Given the description of an element on the screen output the (x, y) to click on. 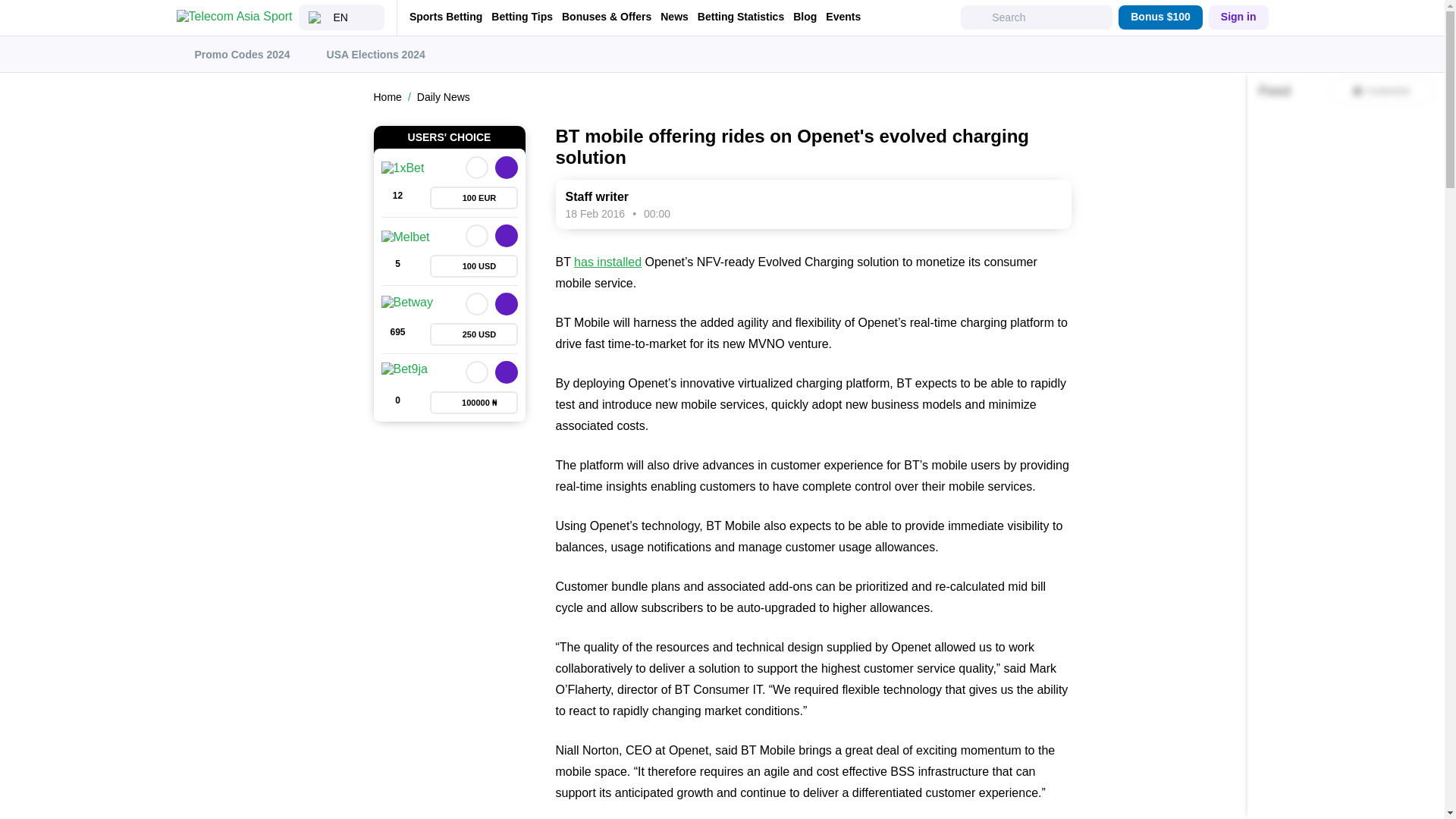
Bonuses (472, 197)
To the website (505, 235)
Reviews (396, 197)
Reviews (396, 333)
To the website (505, 372)
EN (341, 17)
OVERVIEW (476, 372)
Bonuses (472, 402)
Reviews (396, 402)
To the website (505, 167)
